Given the description of an element on the screen output the (x, y) to click on. 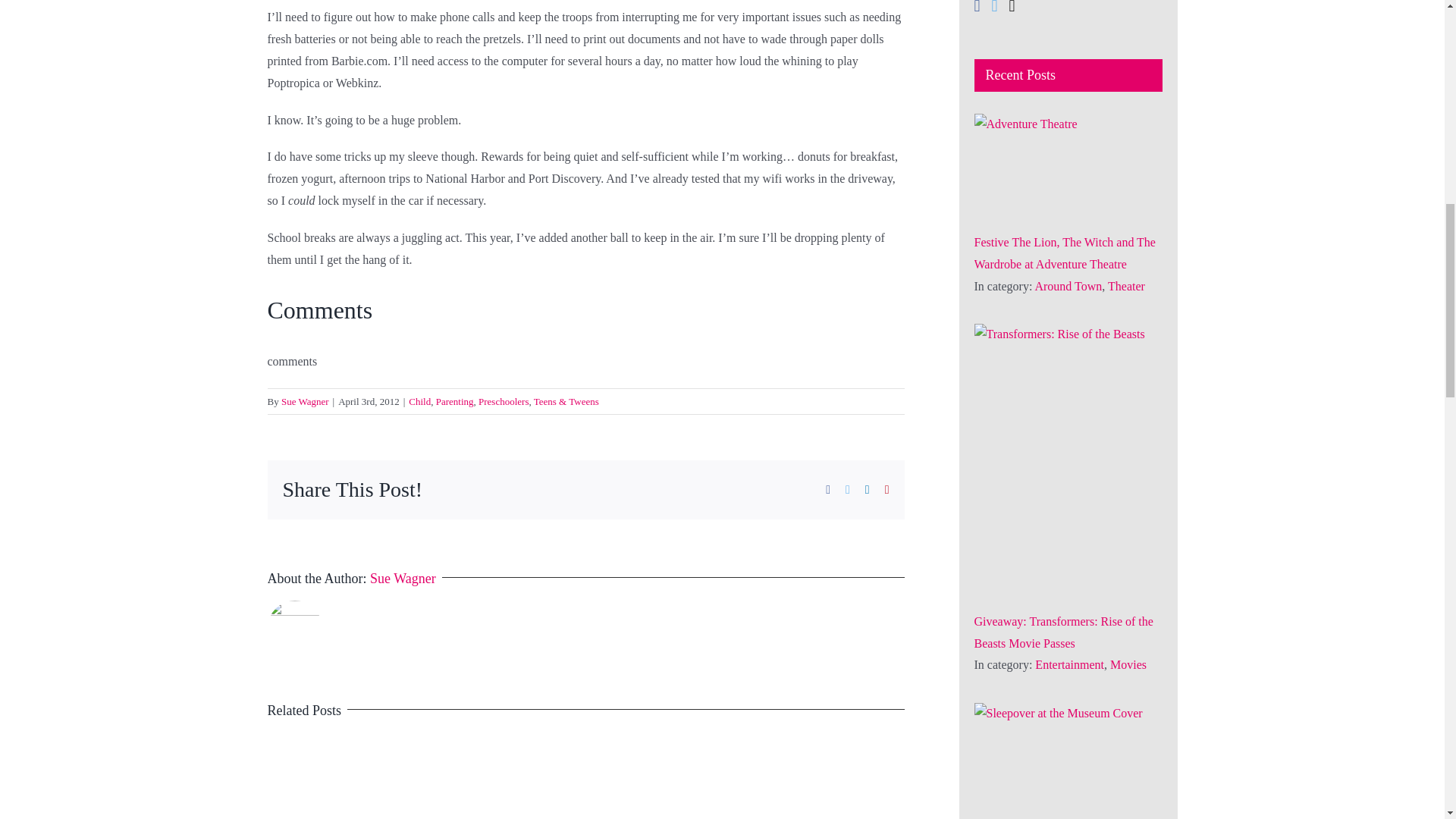
Child (419, 401)
Parenting (454, 401)
Posts by Sue Wagner (305, 401)
Posts by Sue Wagner (402, 578)
Preschoolers (503, 401)
Sue Wagner (305, 401)
Sue Wagner (402, 578)
